Given the description of an element on the screen output the (x, y) to click on. 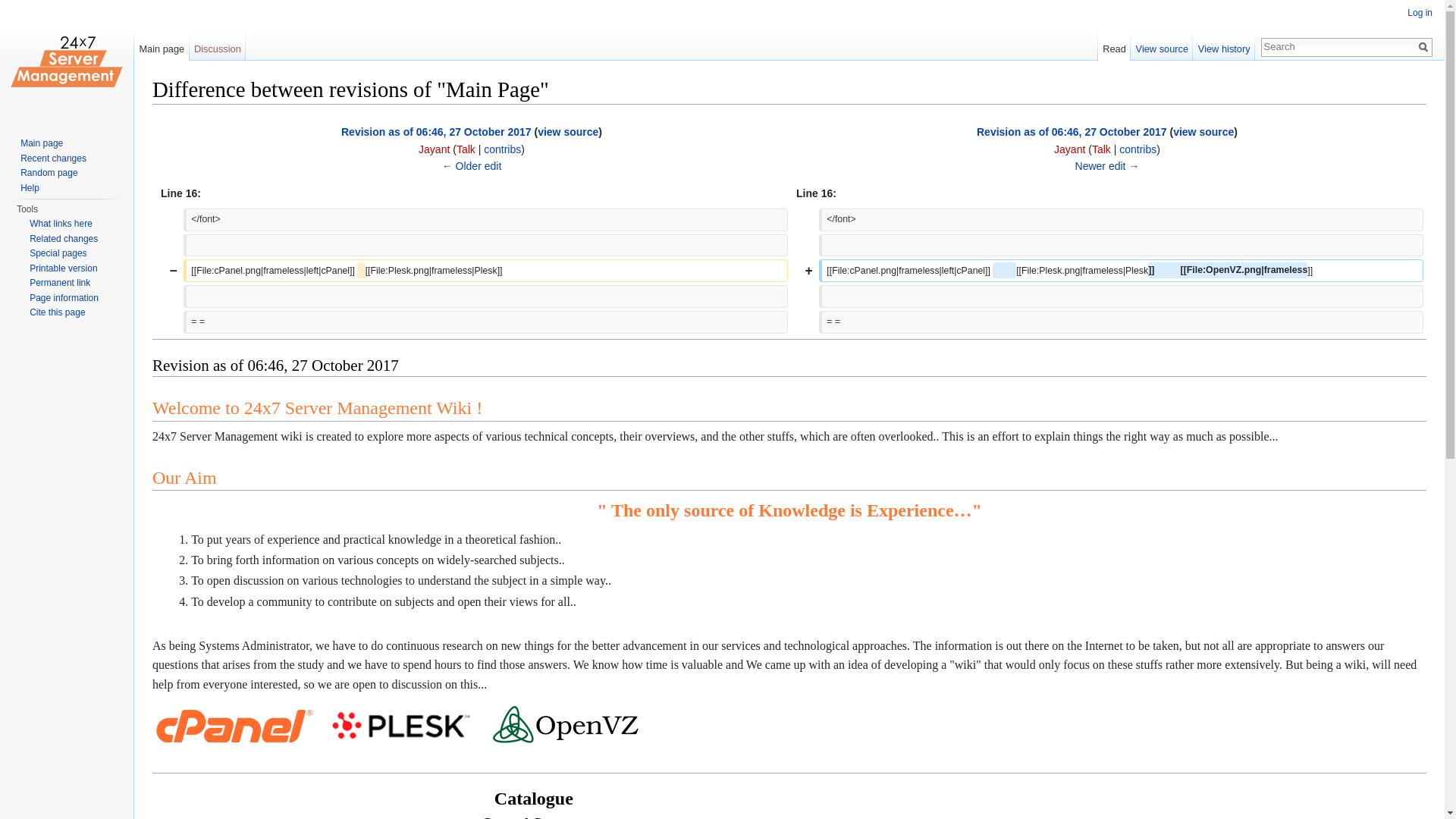
view source Element type: text (567, 131)
Read Element type: text (1114, 45)
Visit the main page Element type: hover (66, 60)
Plesk Element type: hover (399, 725)
Main page Element type: text (161, 45)
Permanent link Element type: text (59, 282)
Talk Element type: text (465, 149)
Search Wiki 24x7servermanagement [f] Element type: hover (1338, 45)
cPanel Element type: hover (232, 725)
Cite this page Element type: text (56, 312)
Help Element type: text (29, 187)
View source Element type: text (1161, 45)
Log in Element type: text (1419, 12)
Jayant Element type: text (433, 149)
Revision as of 06:46, 27 October 2017 Element type: text (1071, 131)
contribs Element type: text (1137, 149)
Related changes Element type: text (63, 238)
Recent changes Element type: text (53, 158)
Talk Element type: text (1101, 149)
Jayant Element type: text (1069, 149)
View history Element type: text (1223, 45)
Discussion Element type: text (217, 45)
view source Element type: text (1203, 131)
Printable version Element type: text (63, 267)
Search Element type: text (1423, 46)
Page information Element type: text (63, 297)
contribs Element type: text (501, 149)
Special pages Element type: text (57, 252)
Search the pages for this text Element type: hover (1423, 46)
Revision as of 06:46, 27 October 2017 Element type: text (436, 131)
Random page Element type: text (48, 172)
What links here Element type: text (60, 223)
Main page Element type: text (41, 143)
